Given the description of an element on the screen output the (x, y) to click on. 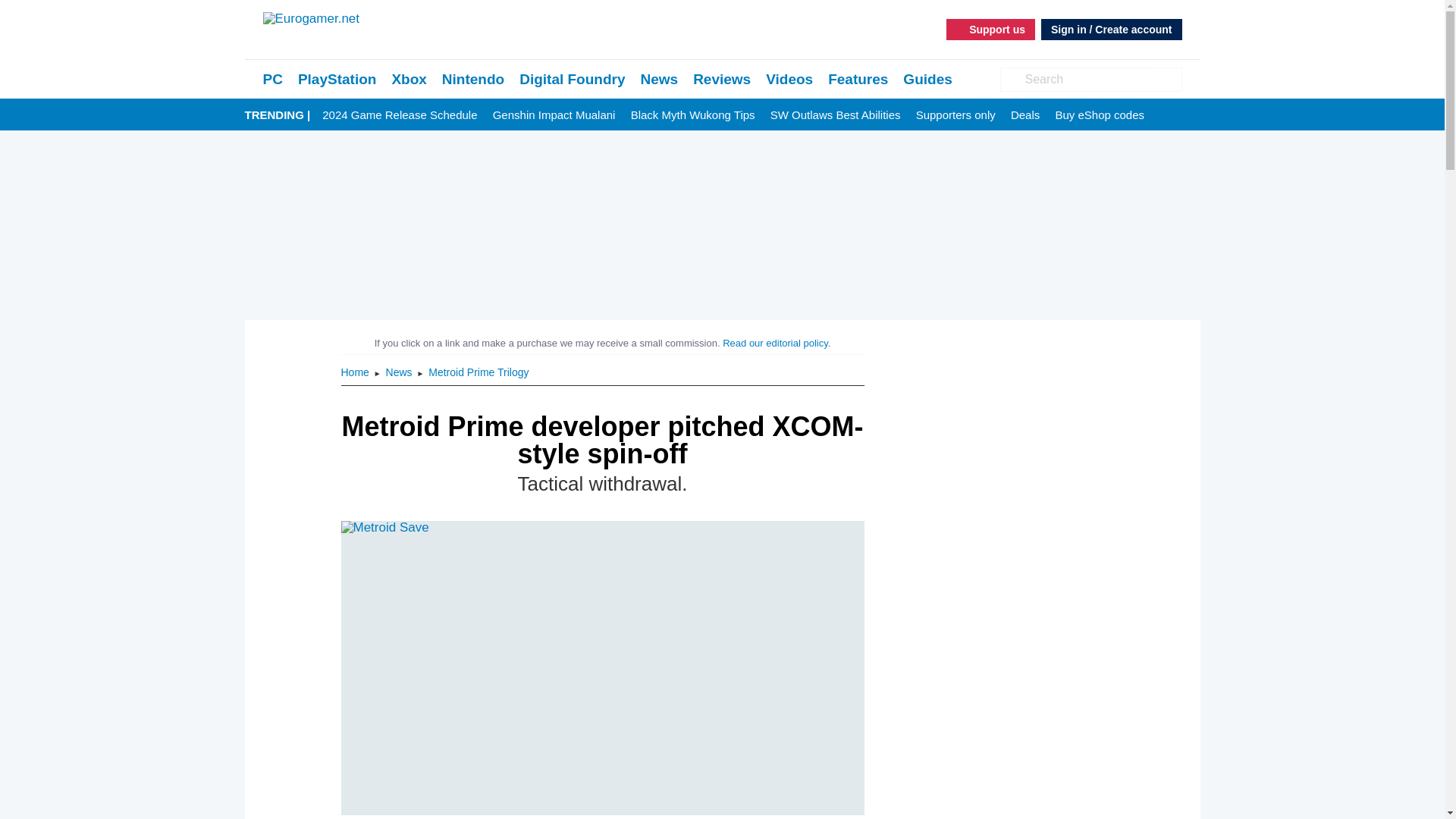
Guides (927, 78)
Black Myth Wukong Tips (692, 114)
SW Outlaws Best Abilities (835, 114)
Genshin Impact Mualani (554, 114)
Deals (1024, 114)
Supporters only (955, 114)
Videos (788, 78)
Guides (927, 78)
Videos (788, 78)
Digital Foundry (571, 78)
